Given the description of an element on the screen output the (x, y) to click on. 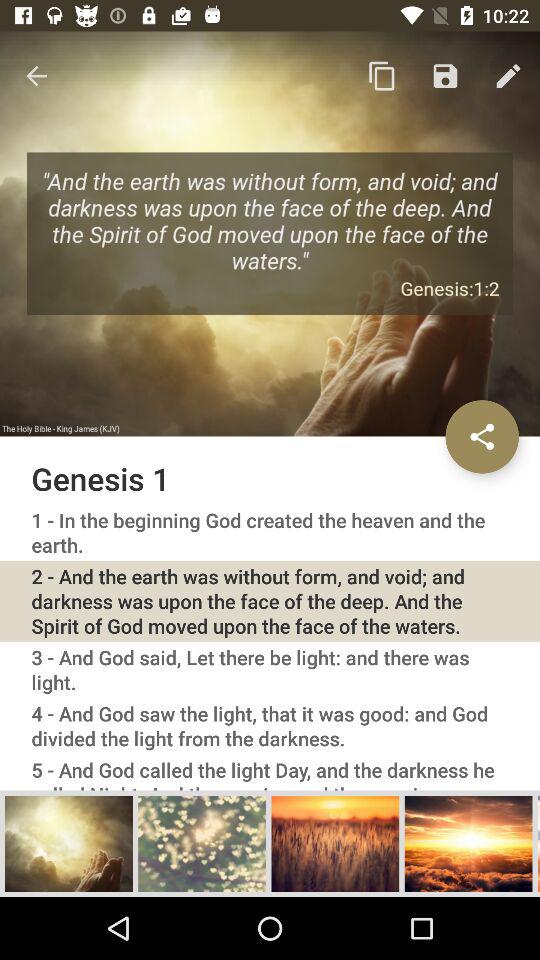
tap the icon at the top left corner (36, 75)
